Given the description of an element on the screen output the (x, y) to click on. 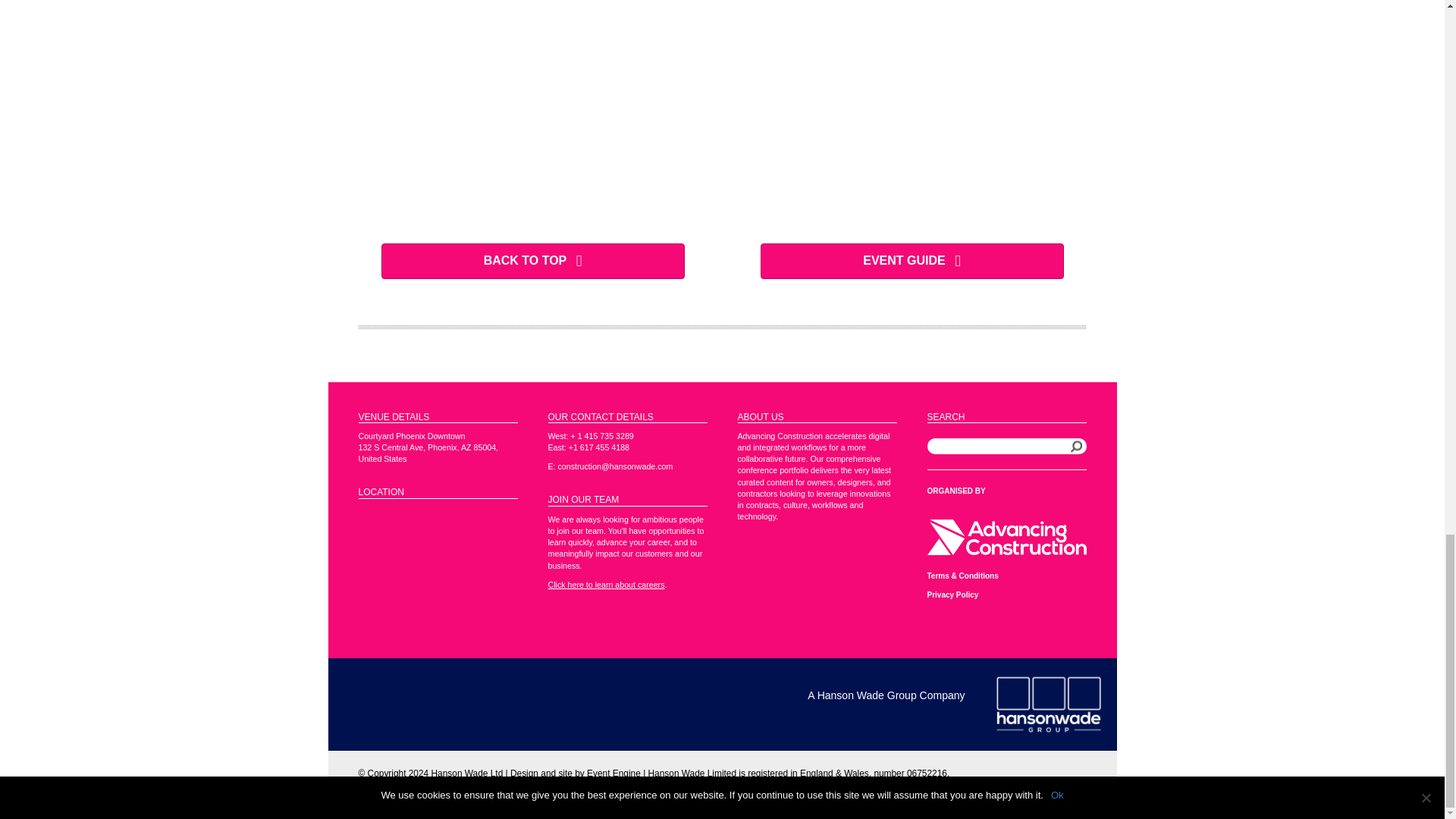
BACK TO TOP (532, 261)
Click here to learn about careers (605, 583)
EVENT GUIDE (911, 261)
HWG (1047, 704)
